Given the description of an element on the screen output the (x, y) to click on. 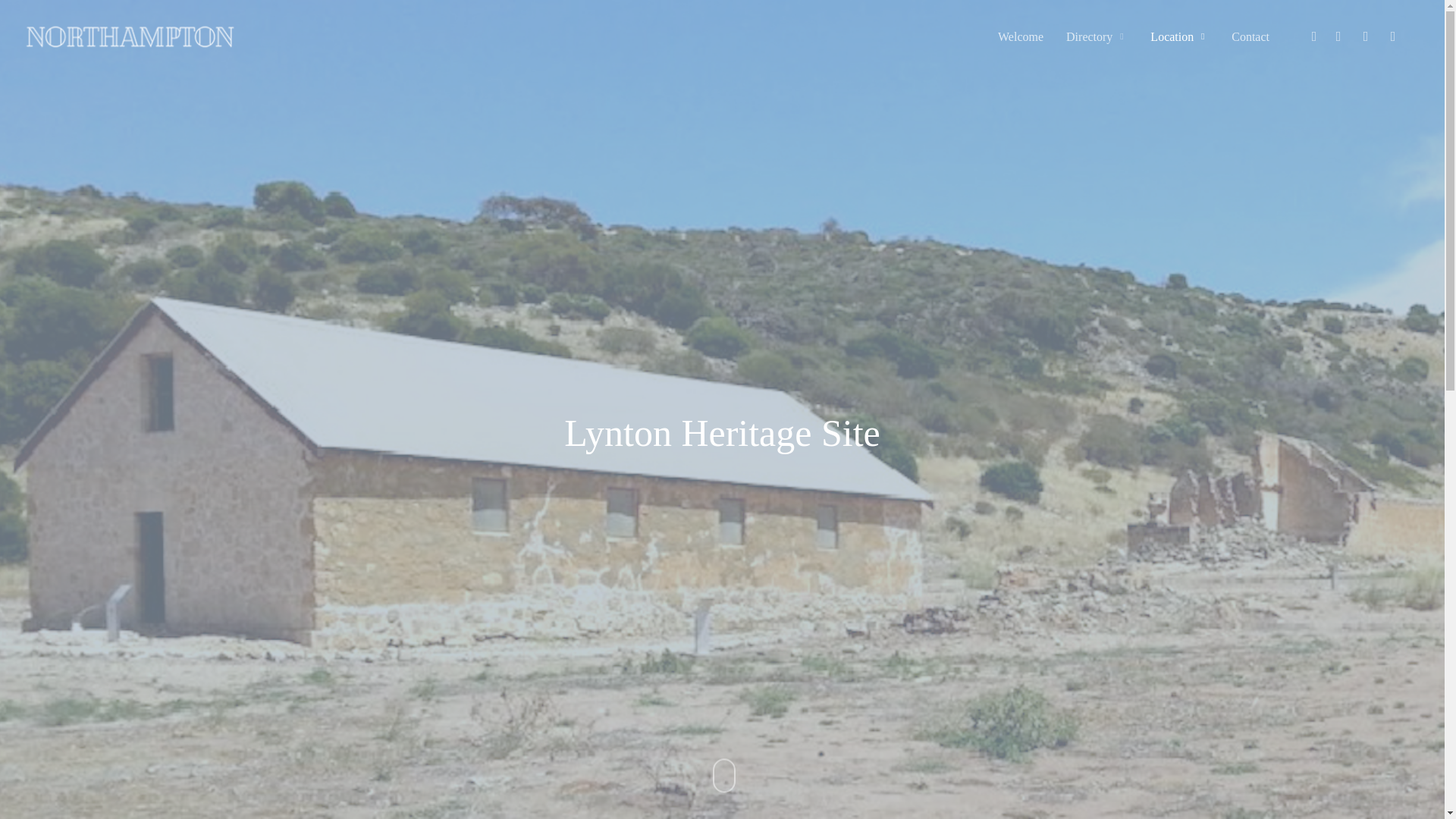
Location (1179, 36)
Contact (1250, 36)
Welcome (1020, 36)
Directory (1096, 36)
youtube (1338, 36)
phone (1365, 36)
email (1392, 36)
facebook (1313, 36)
